Given the description of an element on the screen output the (x, y) to click on. 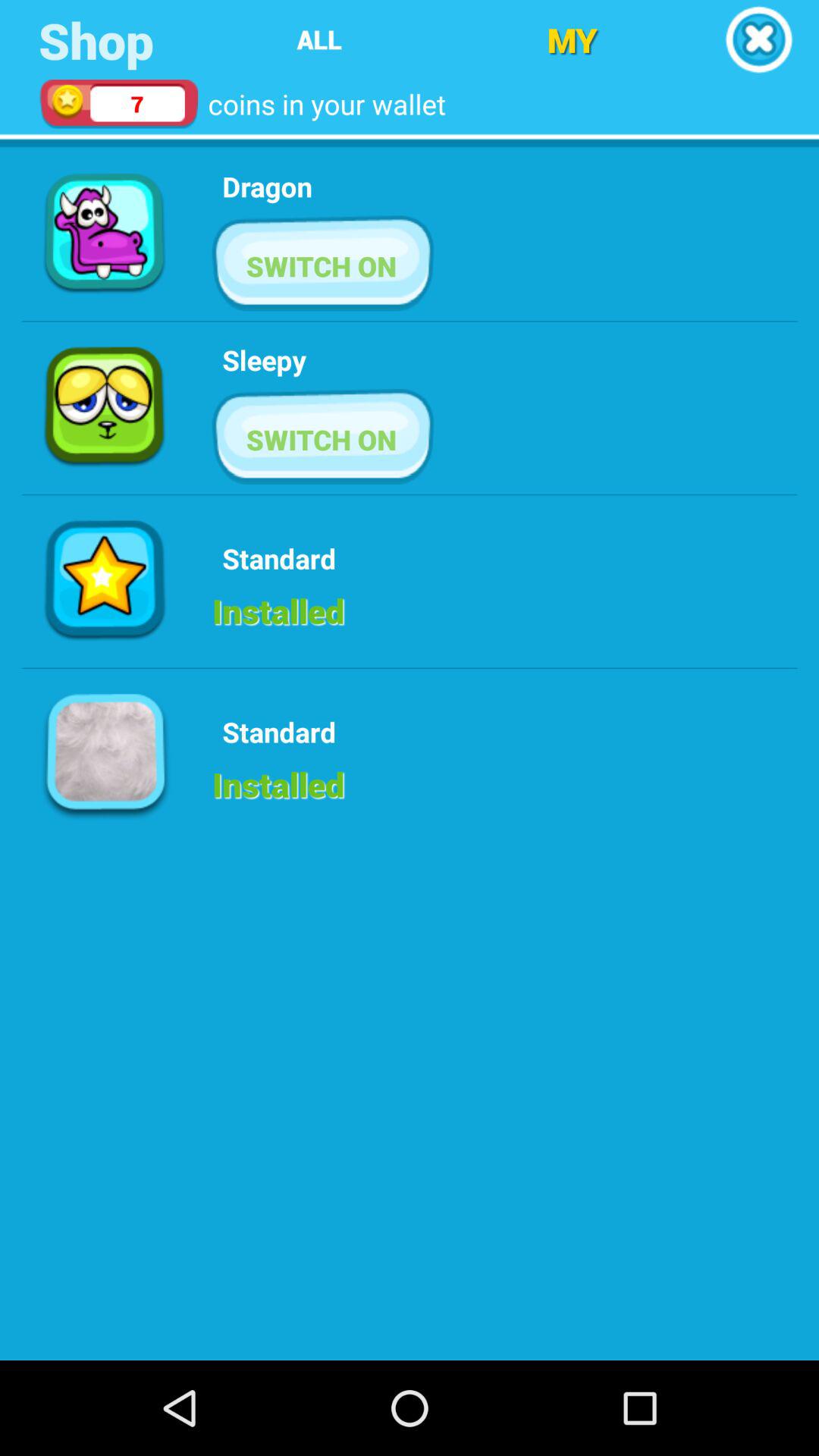
turn on app to the right of coins in your item (572, 39)
